Given the description of an element on the screen output the (x, y) to click on. 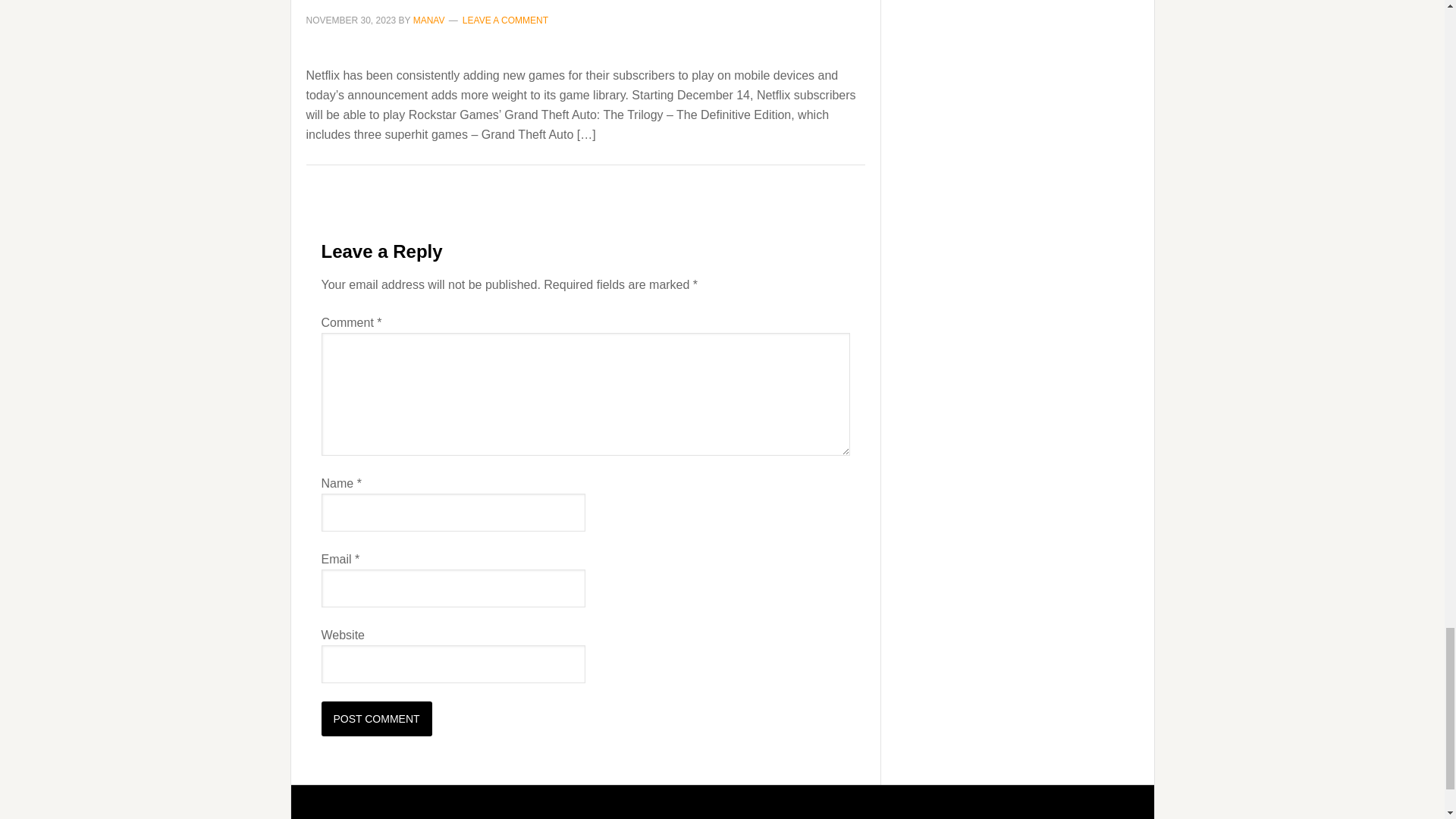
Post Comment (376, 718)
